Given the description of an element on the screen output the (x, y) to click on. 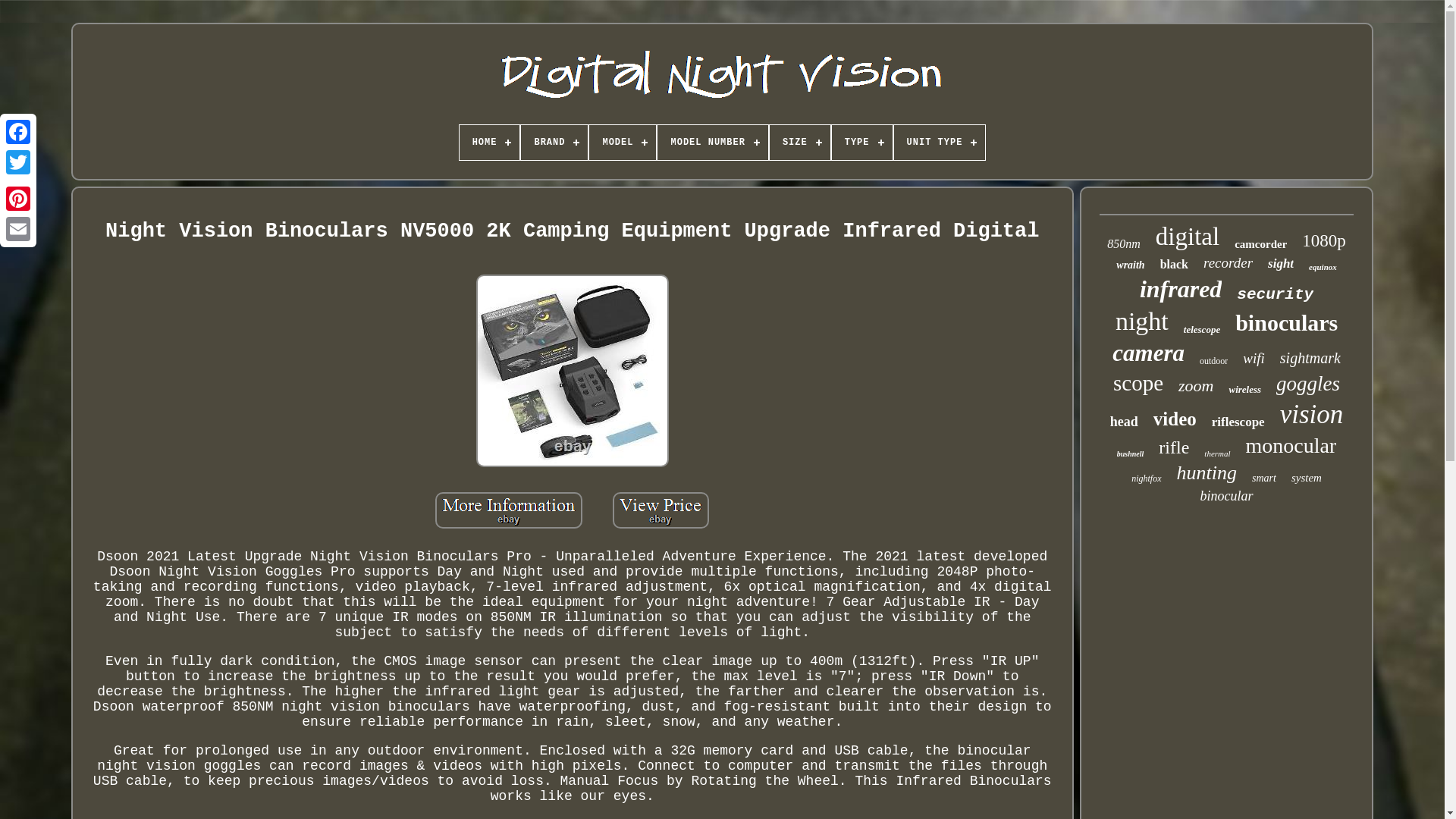
BRAND (554, 142)
HOME (489, 142)
MODEL (622, 142)
